Given the description of an element on the screen output the (x, y) to click on. 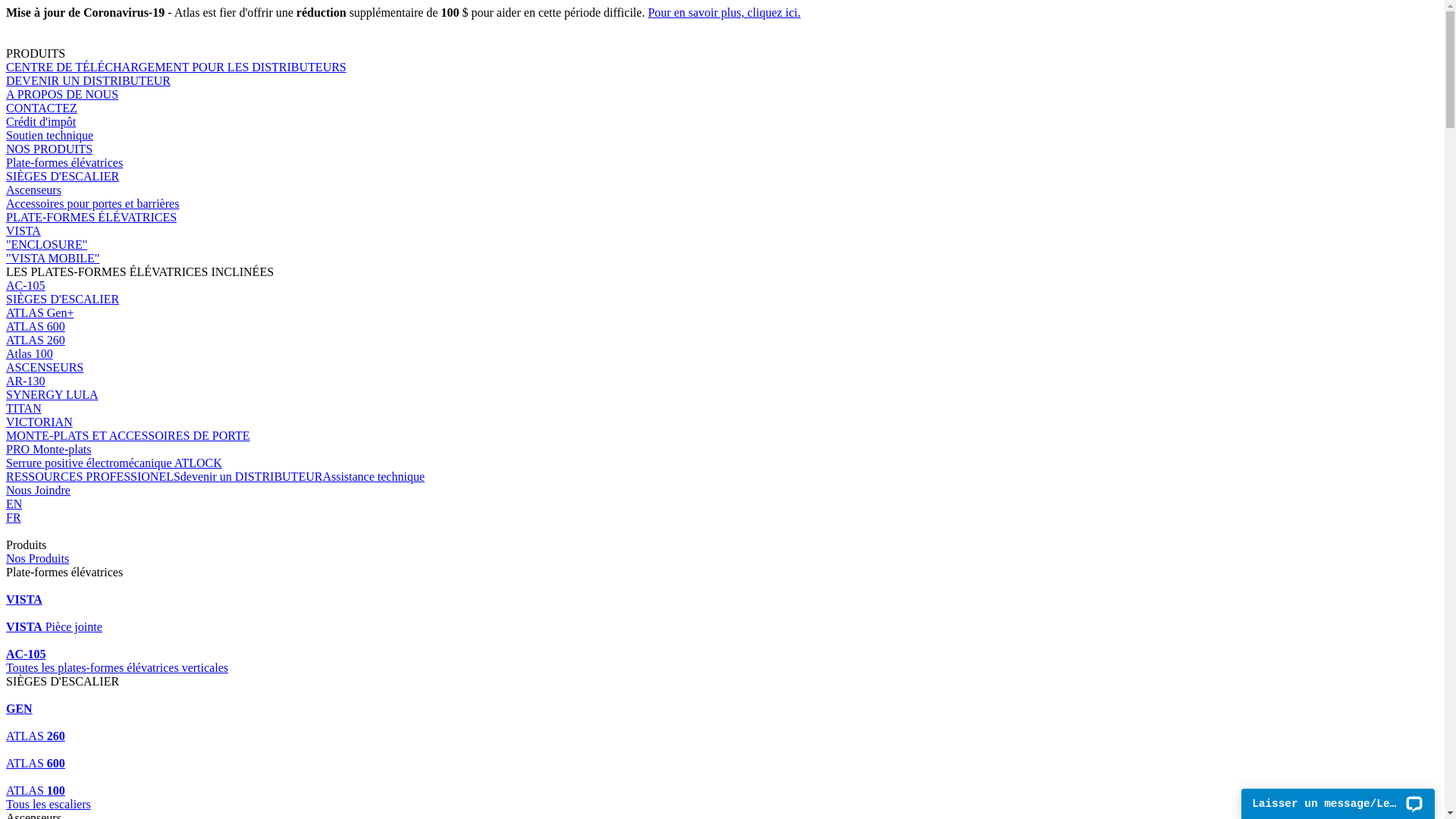
"VISTA MOBILE" Element type: text (722, 258)
AC-105 Element type: text (722, 647)
MONTE-PLATS ET ACCESSOIRES DE PORTE Element type: text (722, 435)
DEVENIR UN DISTRIBUTEUR Element type: text (722, 80)
EN Element type: text (722, 504)
VISTA Element type: text (722, 592)
ATLAS Gen+ Element type: text (722, 313)
Assistance technique Element type: text (373, 476)
Atlas 100 Element type: text (722, 353)
CONTACTEZ Element type: text (722, 108)
ATLAS 600 Element type: text (722, 326)
AR-130 Element type: text (722, 381)
PRO Monte-plats Element type: text (722, 449)
ATLAS 100 Element type: text (722, 783)
Nous Joindre Element type: text (722, 497)
Soutien technique Element type: text (722, 135)
ATLAS 260 Element type: text (722, 729)
Nos Produits Element type: text (37, 558)
Tous les escaliers Element type: text (722, 804)
"ENCLOSURE" Element type: text (722, 244)
GEN Element type: text (722, 701)
ATLAS 600 Element type: text (722, 756)
devenir un DISTRIBUTEUR Element type: text (251, 476)
NOS PRODUITS Element type: text (722, 149)
A PROPOS DE NOUS Element type: text (722, 94)
VISTA Element type: text (722, 231)
VICTORIAN Element type: text (722, 422)
ATLAS 260 Element type: text (722, 340)
TITAN Element type: text (722, 408)
FR Element type: text (722, 517)
ASCENSEURS Element type: text (722, 367)
RESSOURCES PROFESSIONELS Element type: text (93, 476)
AC-105 Element type: text (722, 285)
Ascenseurs Element type: text (722, 190)
Pour en savoir plus, cliquez ici. Element type: text (723, 12)
SYNERGY LULA Element type: text (722, 394)
